Given the description of an element on the screen output the (x, y) to click on. 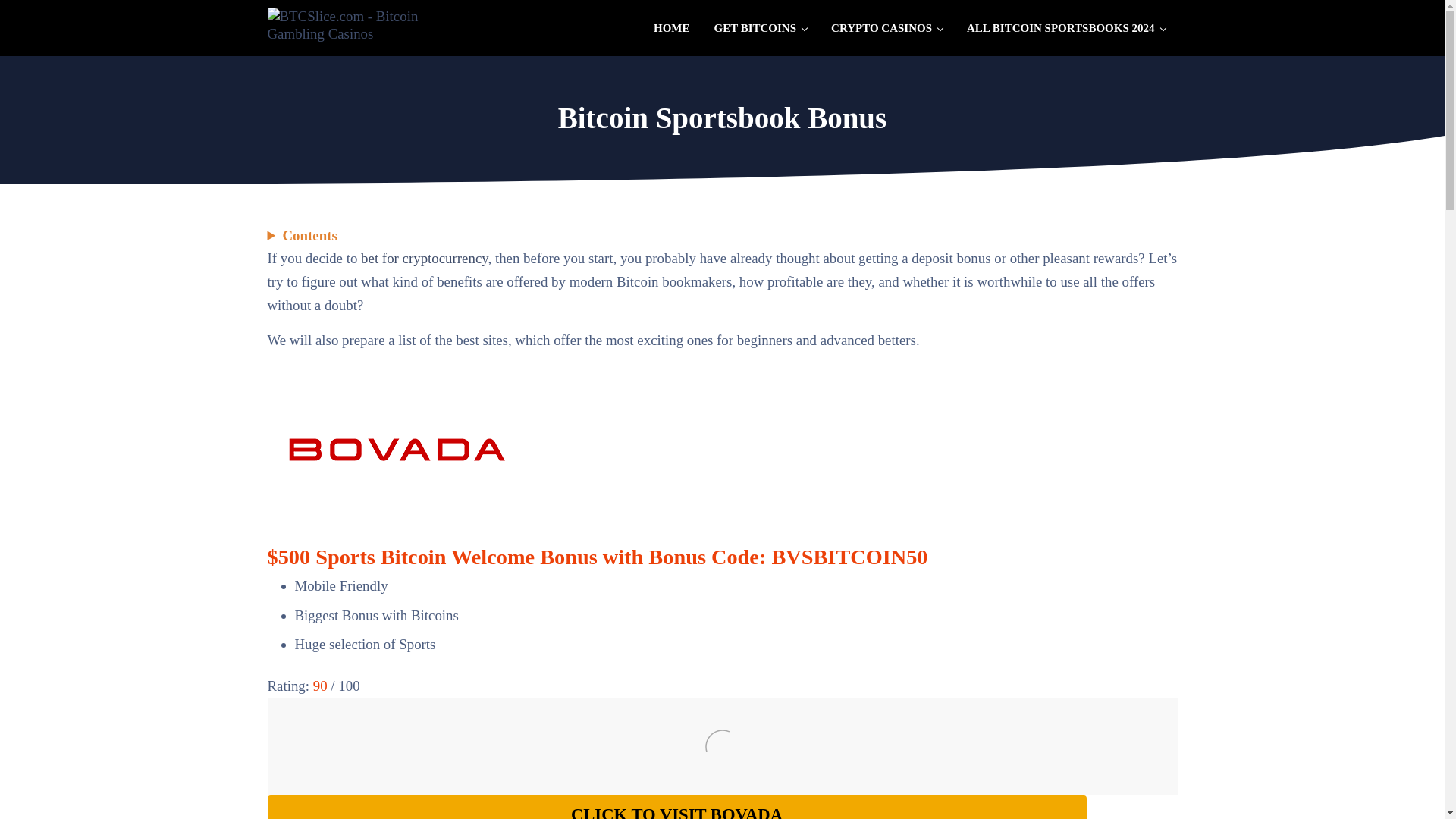
HOME (671, 27)
CLICK TO VISIT BOVADA (676, 807)
bet for cryptocurrency (424, 258)
GET BITCOINS (760, 27)
ALL BITCOIN SPORTSBOOKS 2024 (1065, 27)
CRYPTO CASINOS (886, 27)
